Given the description of an element on the screen output the (x, y) to click on. 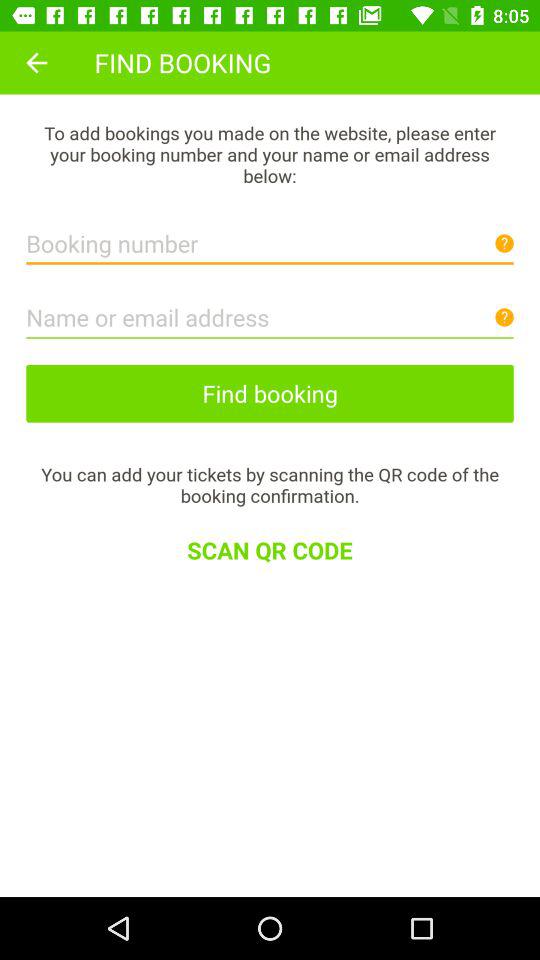
type box (269, 238)
